Given the description of an element on the screen output the (x, y) to click on. 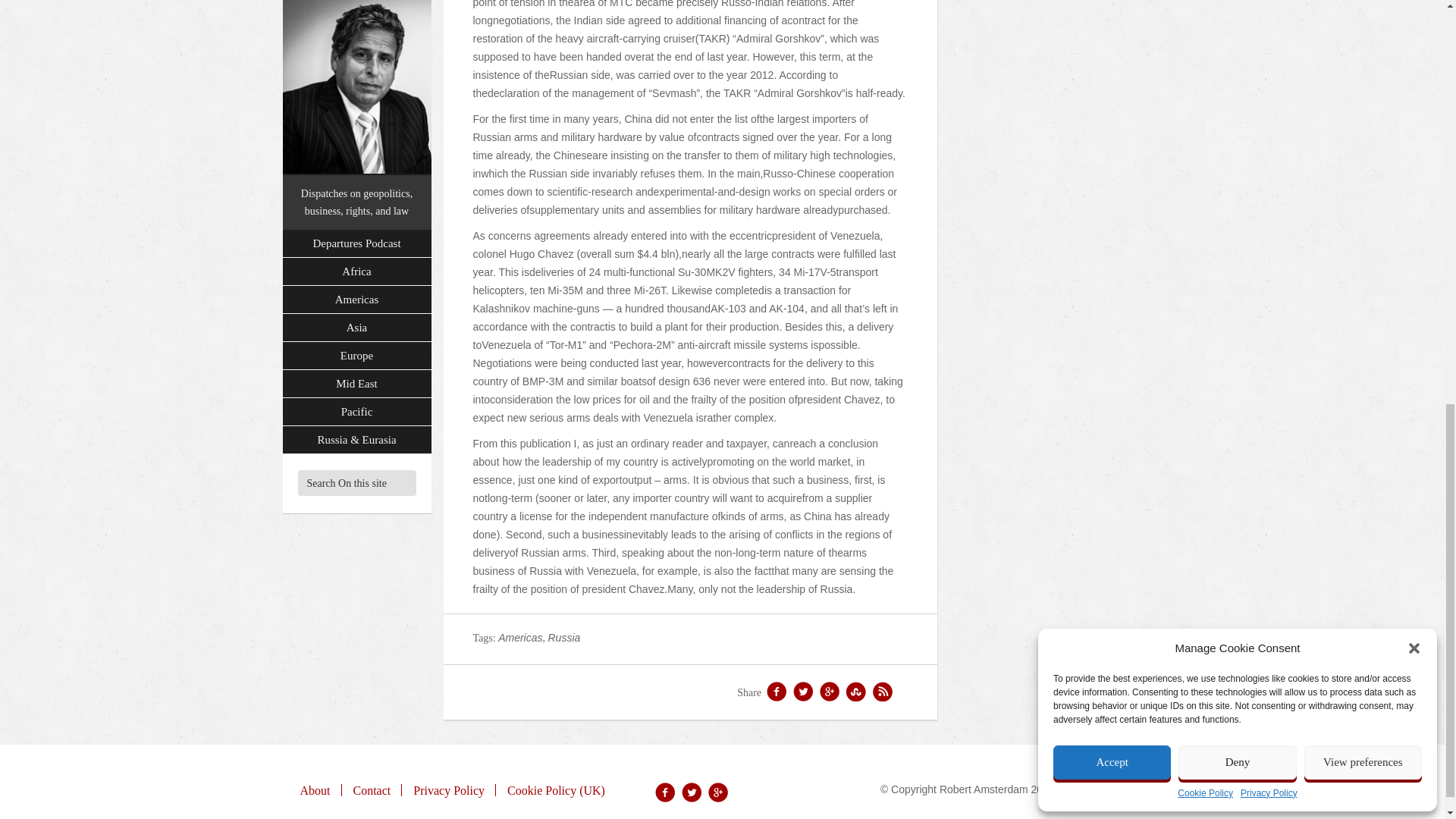
Russia (563, 637)
Americas (519, 637)
